Given the description of an element on the screen output the (x, y) to click on. 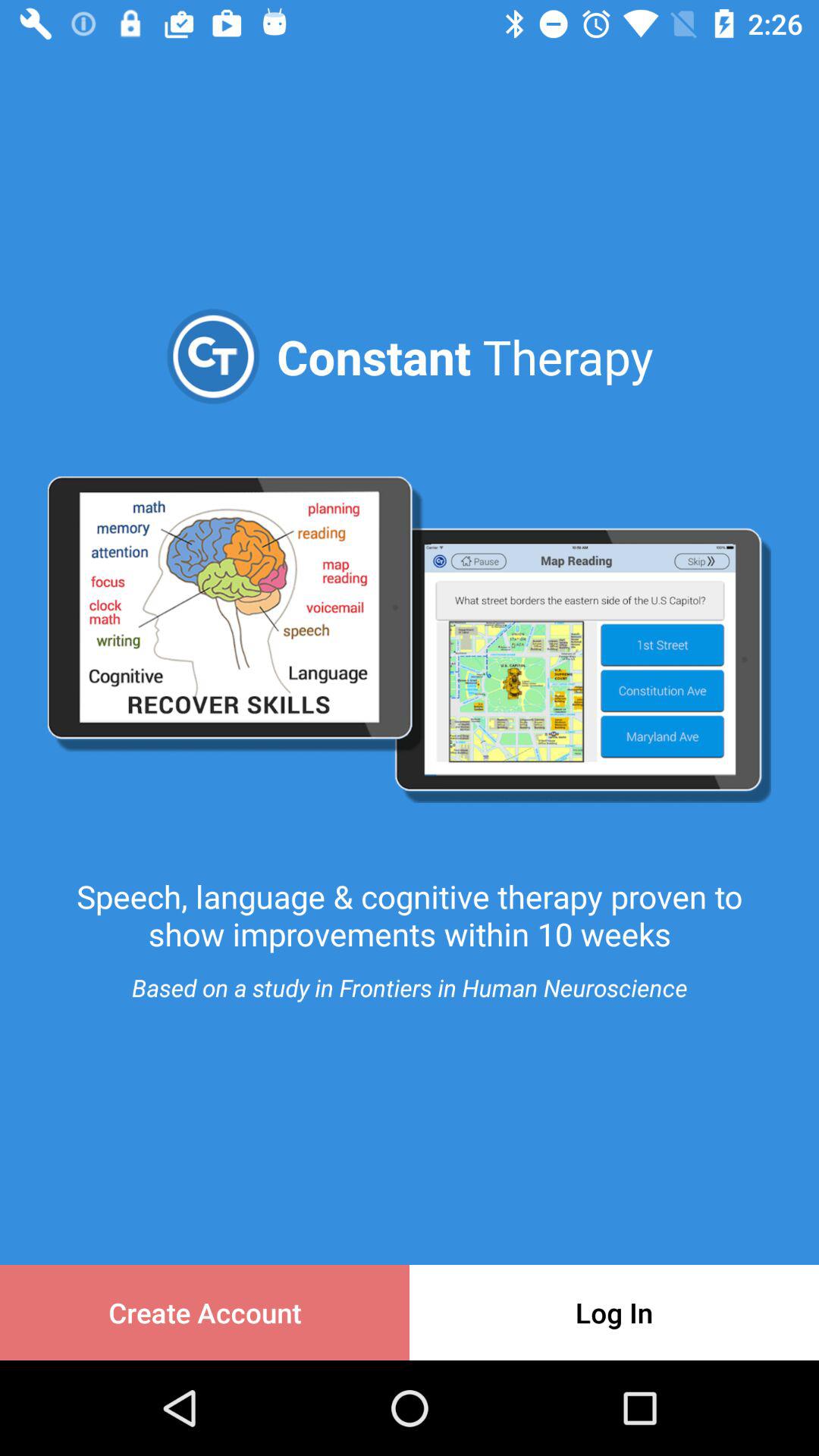
turn off the icon to the left of the log in (204, 1312)
